Given the description of an element on the screen output the (x, y) to click on. 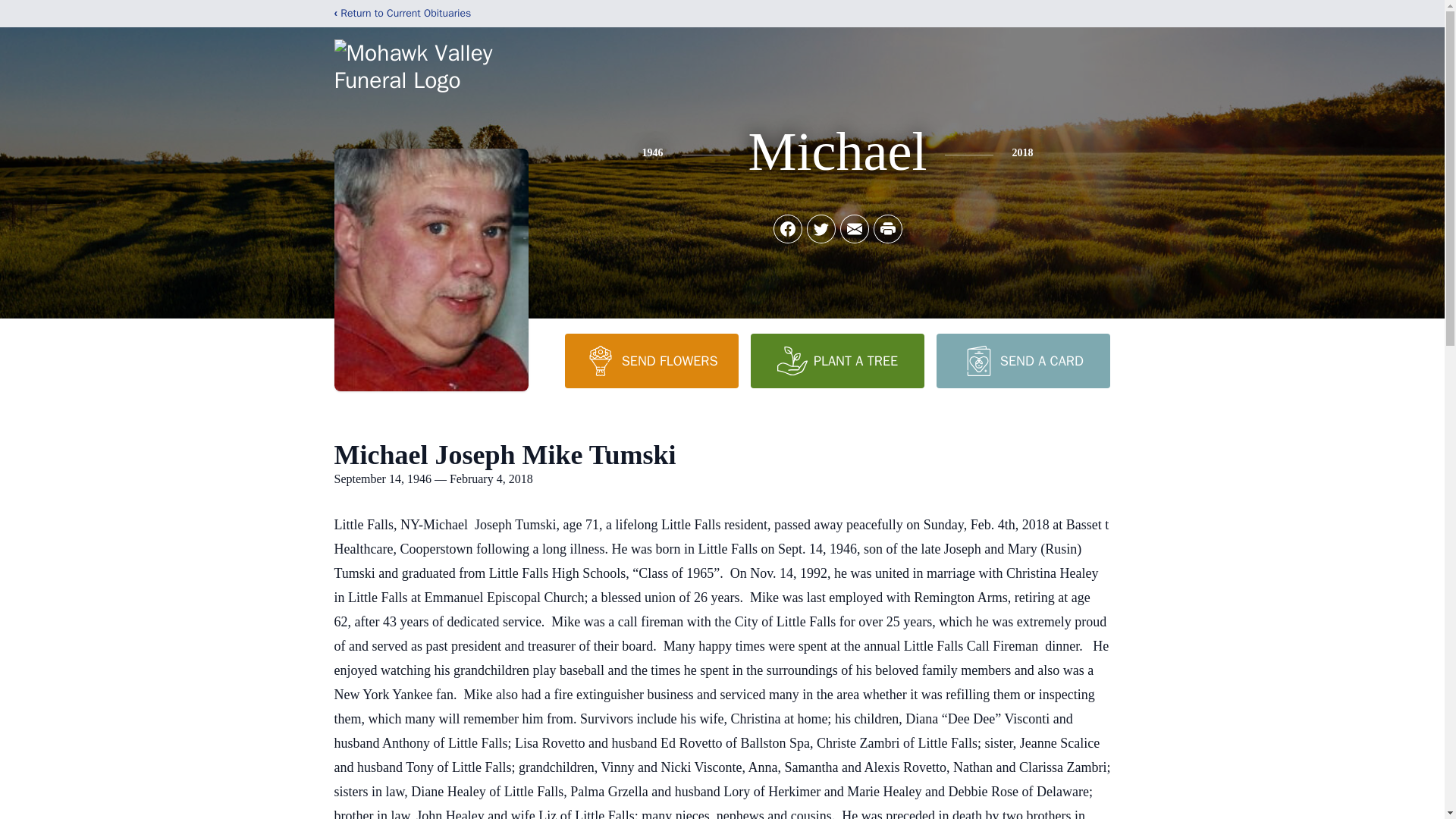
SEND A CARD (1022, 360)
SEND FLOWERS (651, 360)
PLANT A TREE (837, 360)
